Given the description of an element on the screen output the (x, y) to click on. 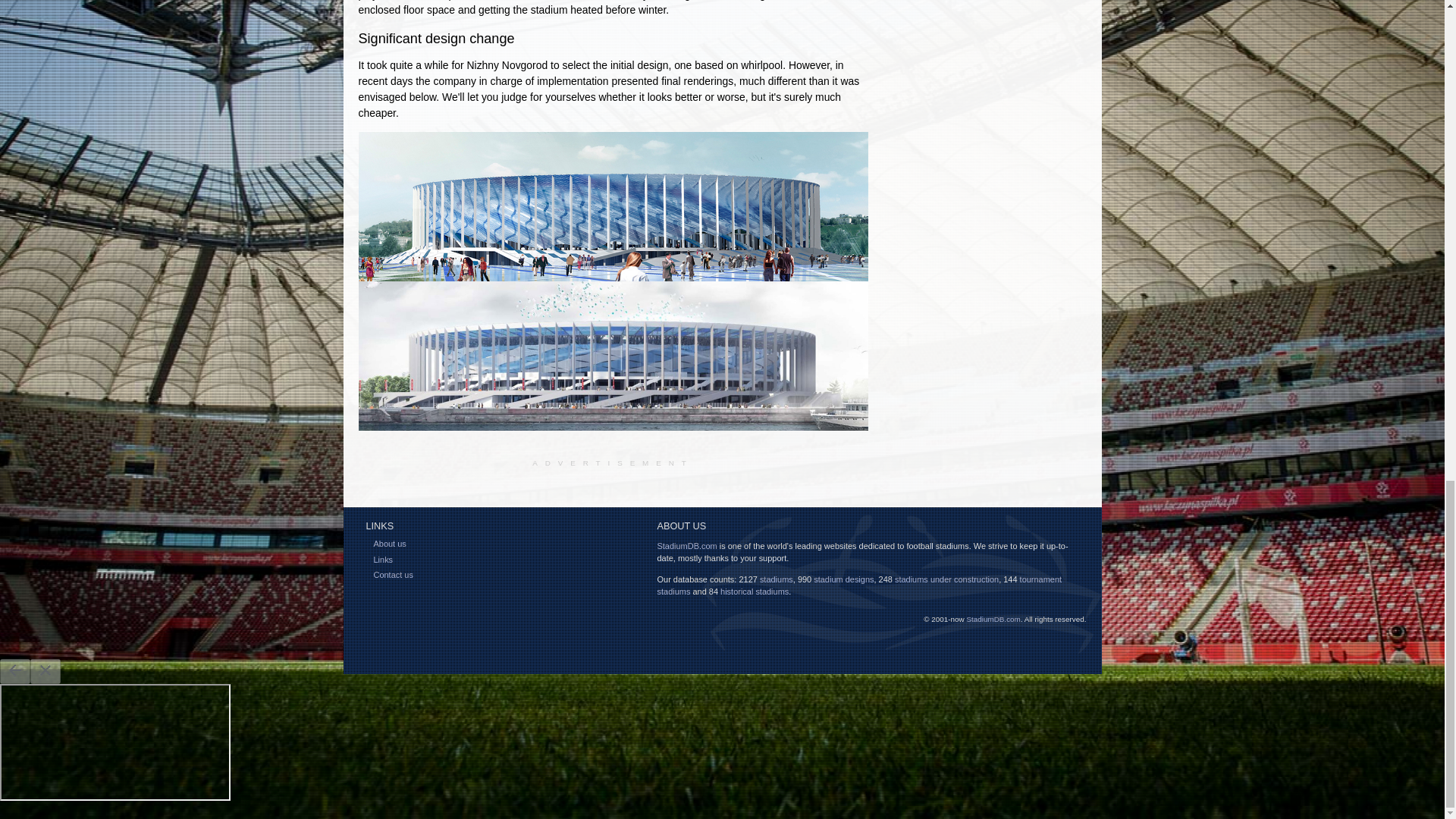
stadiums (776, 578)
StadiumDB.com (686, 545)
